Given the description of an element on the screen output the (x, y) to click on. 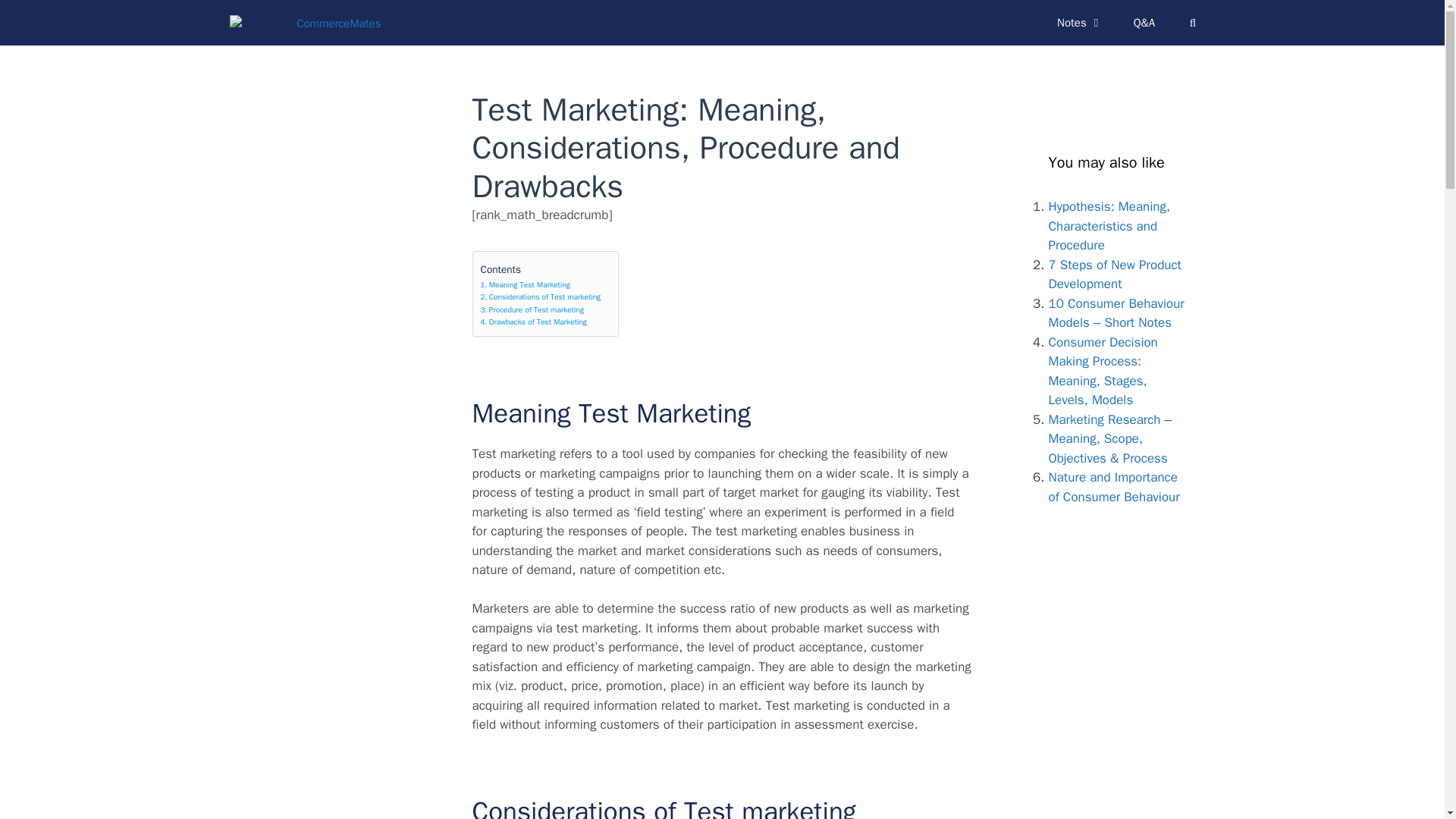
CommerceMates (304, 22)
CommerceMates (308, 22)
Procedure of Test marketing (532, 309)
Drawbacks of Test Marketing (533, 322)
Meaning Test Marketing (525, 285)
Notes (1080, 22)
